Given the description of an element on the screen output the (x, y) to click on. 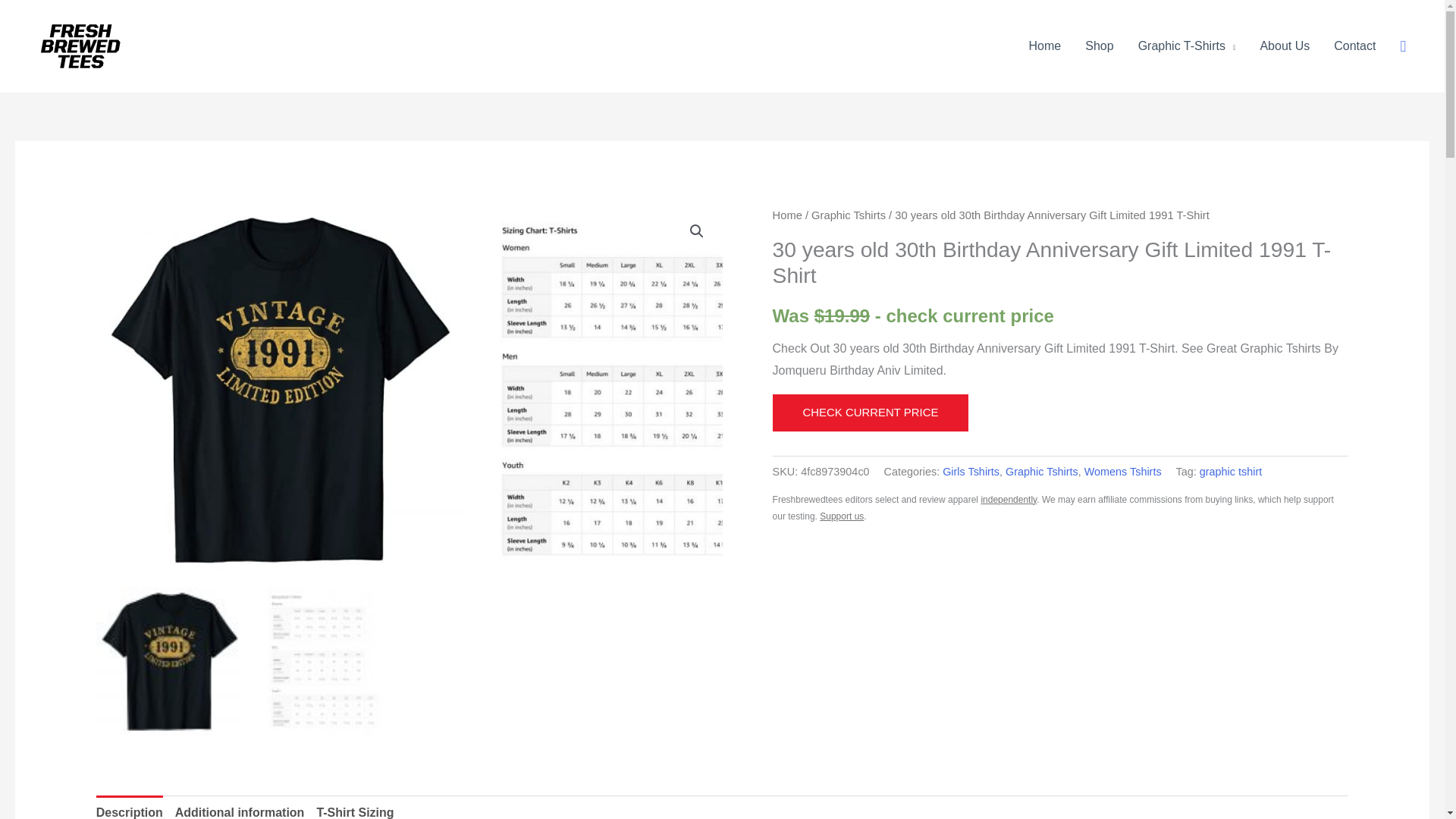
Graphic Tshirts (1042, 471)
About Us (1284, 46)
CHECK CURRENT PRICE (871, 412)
Graphic T-Shirts (1186, 46)
Home (787, 215)
independently (1007, 499)
Home (1045, 46)
Additional information (239, 806)
Description (129, 806)
Graphic Tshirts (847, 215)
Support us (841, 516)
graphic tshirt (1230, 471)
